Given the description of an element on the screen output the (x, y) to click on. 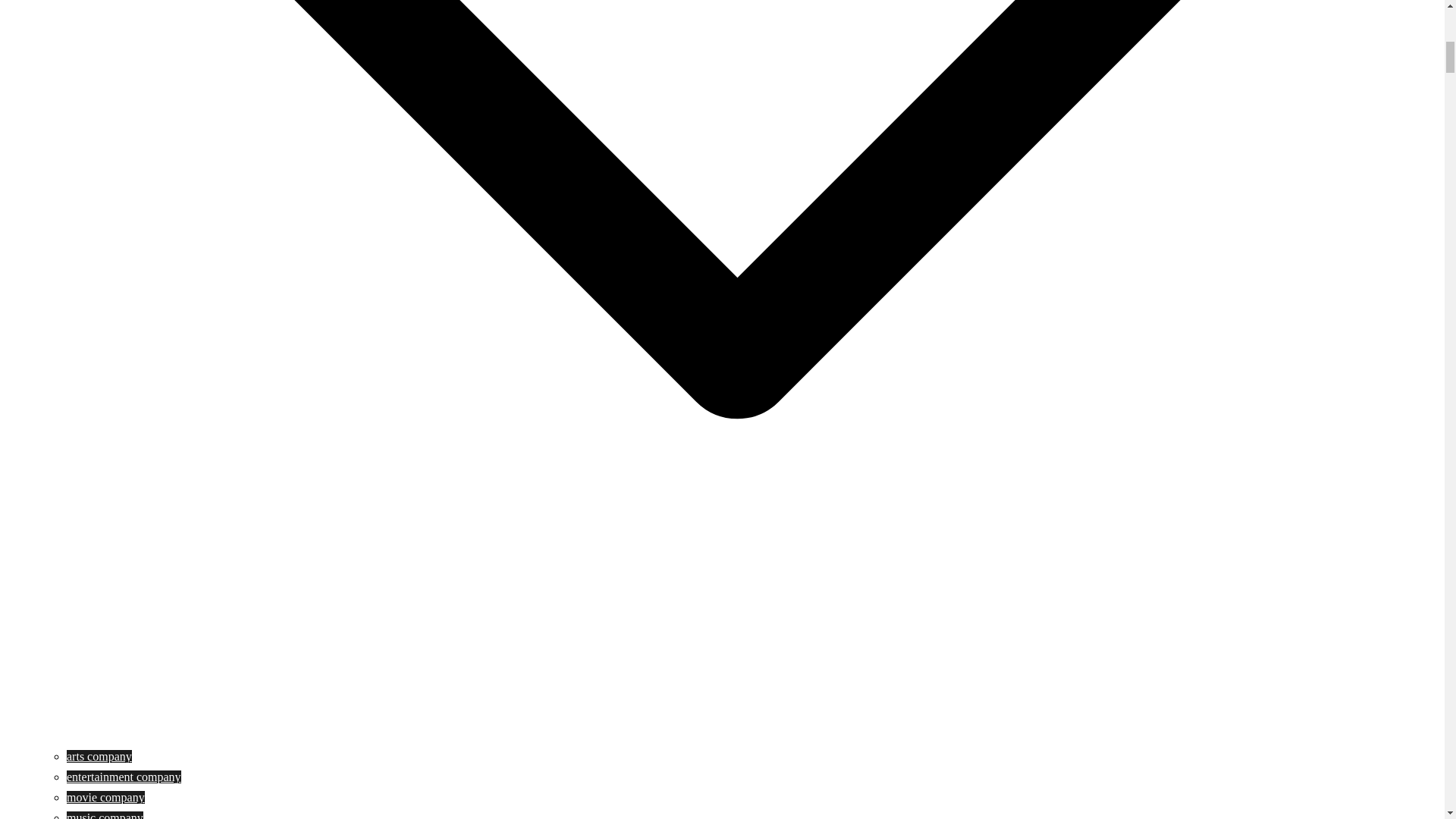
movie company (105, 797)
arts company (99, 756)
music company (104, 815)
entertainment company (123, 776)
